Given the description of an element on the screen output the (x, y) to click on. 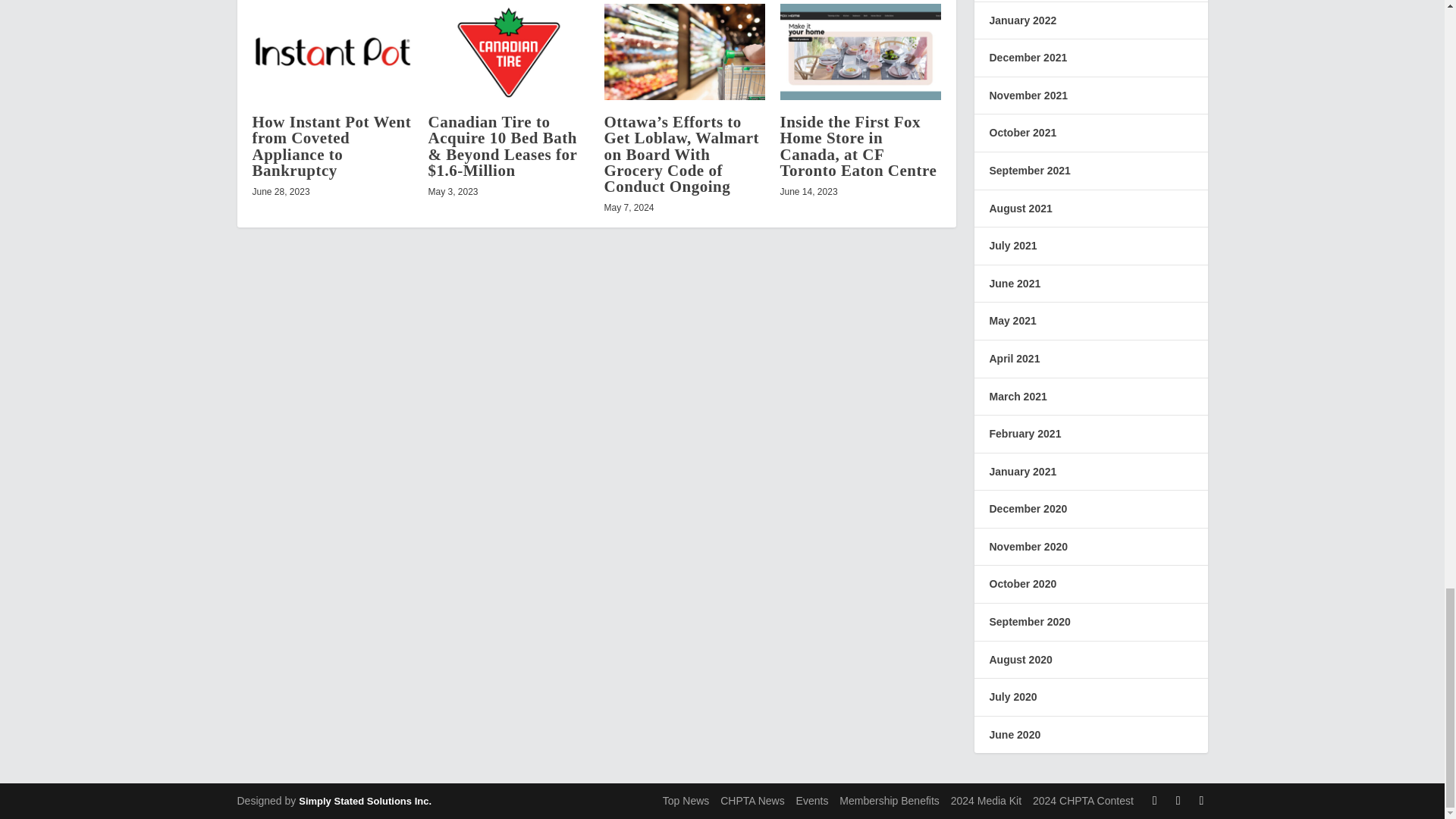
How Instant Pot Went from Coveted Appliance to Bankruptcy (331, 51)
How Instant Pot Went from Coveted Appliance to Bankruptcy (330, 146)
